Given the description of an element on the screen output the (x, y) to click on. 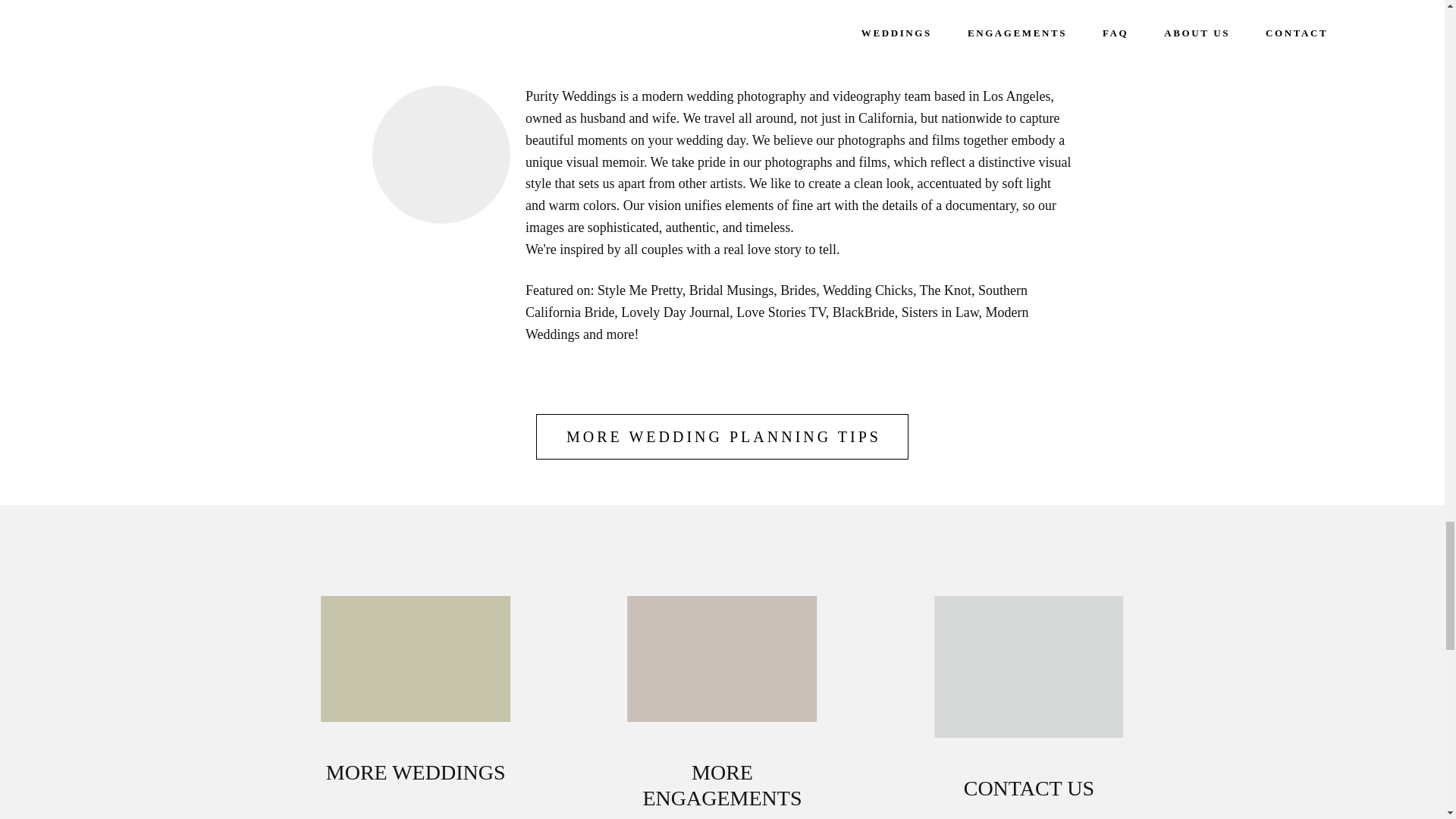
CONTACT US (1028, 791)
MORE ENGAGEMENTS (722, 788)
MORE WEDDING PLANNING TIPS (721, 436)
MORE WEDDINGS (415, 776)
